Given the description of an element on the screen output the (x, y) to click on. 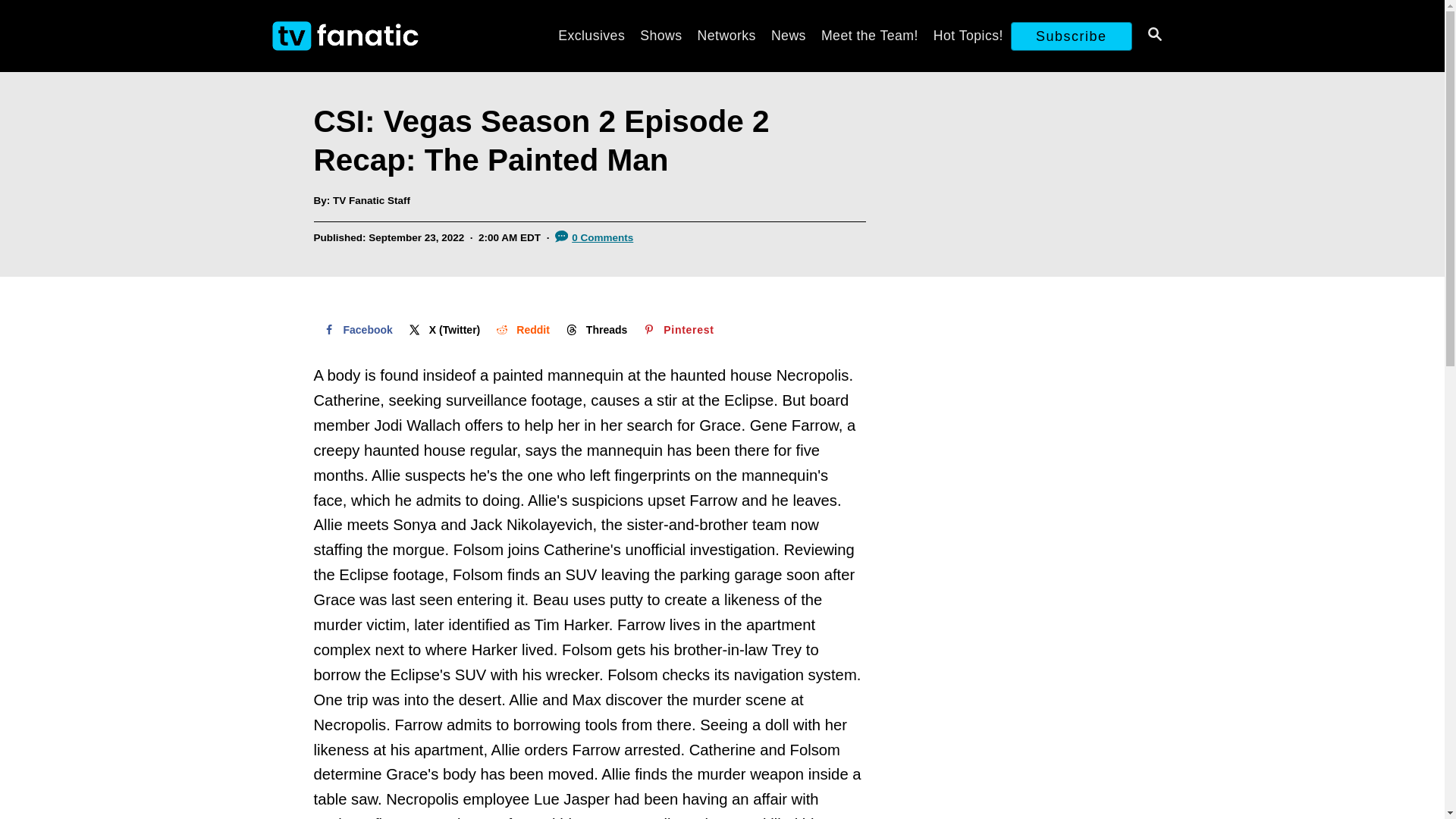
Shows (659, 35)
Save to Pinterest (676, 329)
Share on Facebook (356, 329)
Exclusives (590, 35)
Share on X (442, 329)
Networks (726, 35)
TV Fanatic (394, 36)
SEARCH (1153, 35)
Share on Threads (594, 329)
Share on Reddit (521, 329)
